Given the description of an element on the screen output the (x, y) to click on. 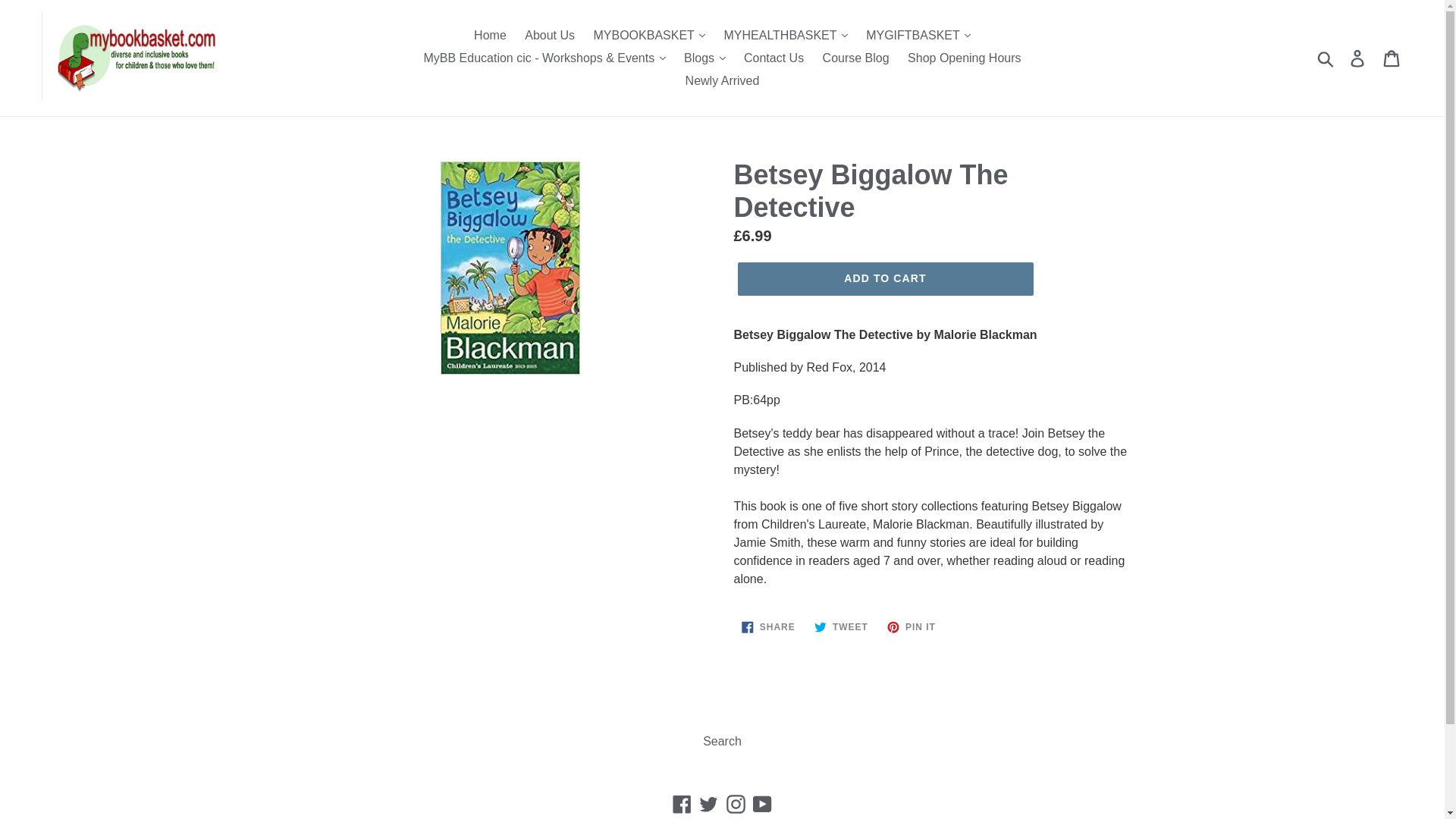
About Us (549, 35)
Home (489, 35)
